Given the description of an element on the screen output the (x, y) to click on. 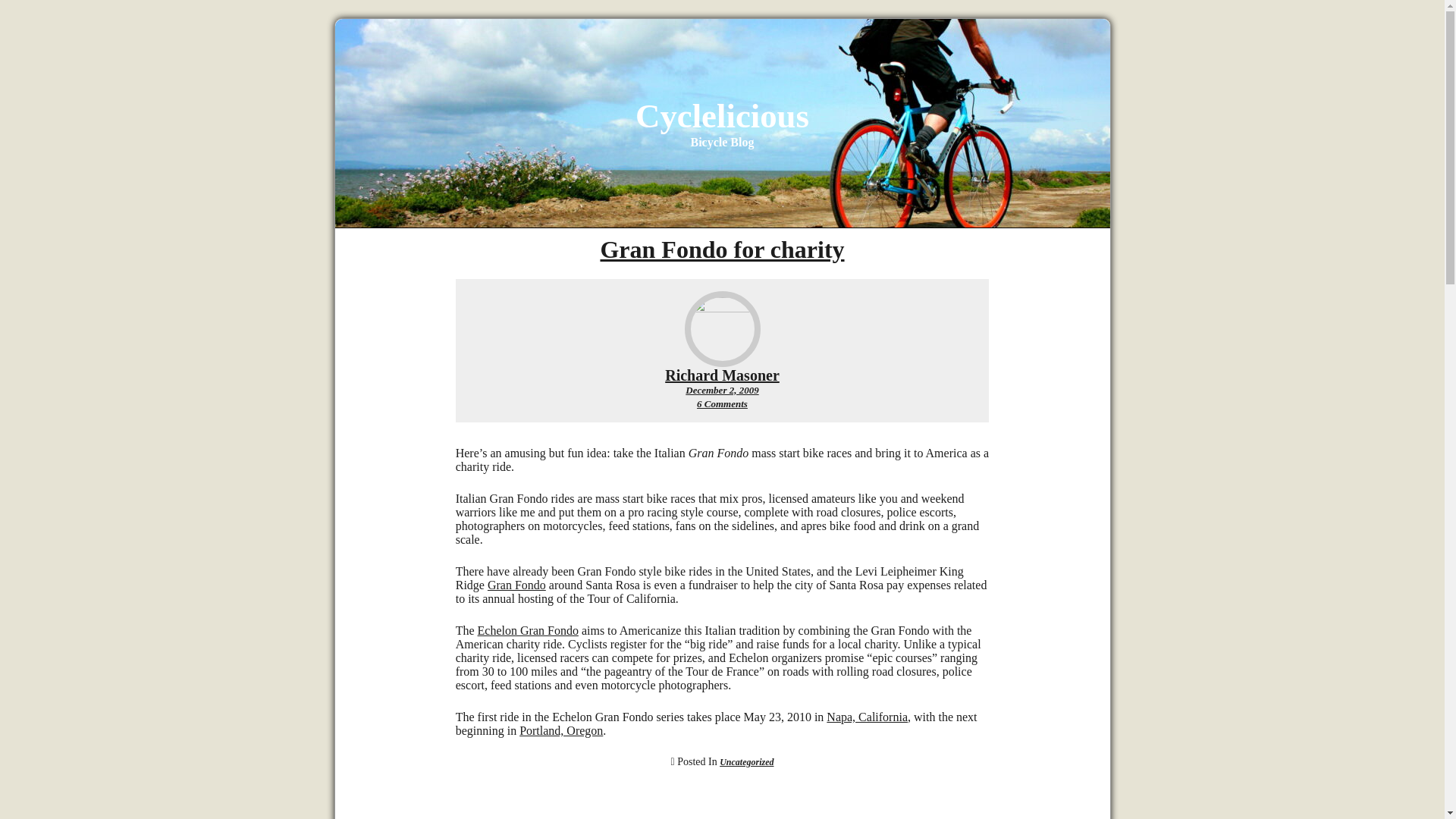
Gran Fondo (516, 584)
Cyclelicious (722, 403)
View all posts by Richard Masoner (721, 116)
Gran Fondo for charity (721, 375)
Skip to content (721, 248)
Uncategorized (721, 389)
Richard Masoner (746, 761)
Echelon Gran Fondo (721, 375)
Napa, California (527, 630)
Portland, Oregon (867, 716)
8:00 pm (560, 730)
